Given the description of an element on the screen output the (x, y) to click on. 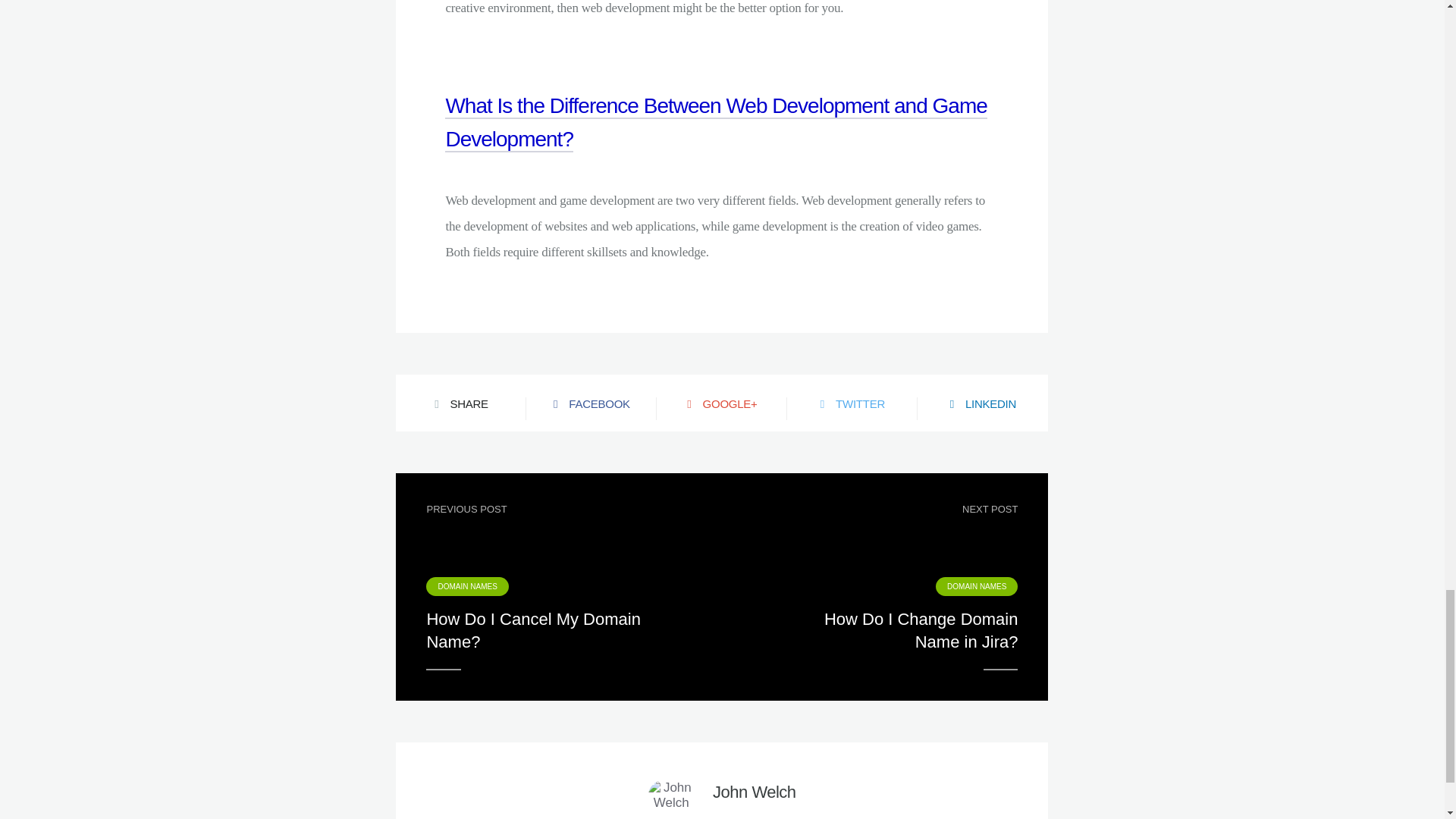
LINKEDIN (982, 402)
TWITTER (852, 402)
FACEBOOK (590, 402)
